Given the description of an element on the screen output the (x, y) to click on. 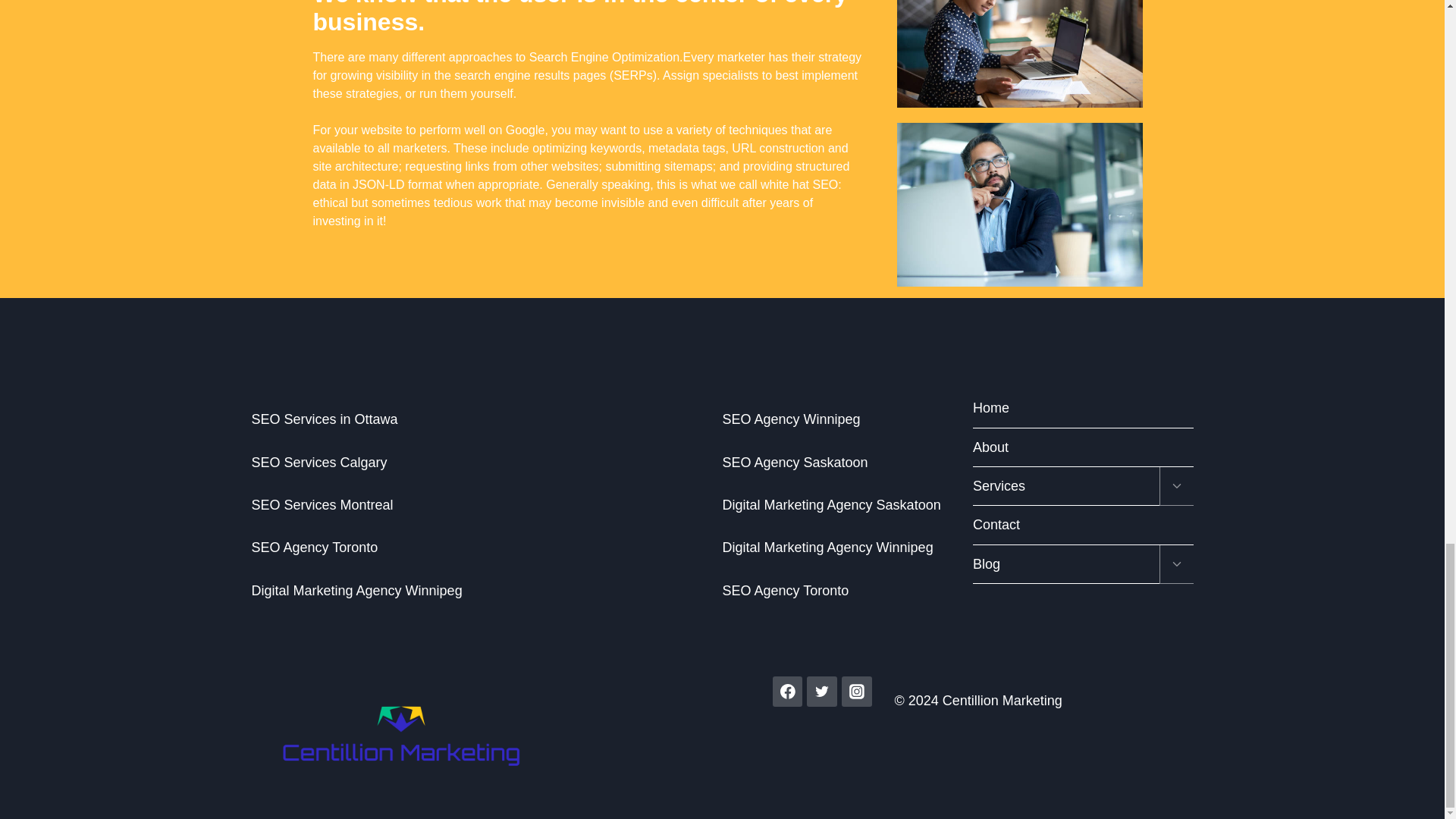
Services (1065, 486)
SEO Services Calgary (319, 462)
Digital Marketing Agency Winnipeg (357, 590)
SEO Agency Saskatoon (794, 462)
SEO Services in Ottawa (324, 418)
SEO Agency Toronto (785, 590)
About (1082, 447)
Digital Marketing Agency Winnipeg (827, 547)
SEO Agency Toronto (314, 547)
Home (1082, 408)
SEO Services Montreal (322, 504)
SEO Agency Winnipeg (791, 418)
Digital Marketing Agency Saskatoon (831, 504)
